Given the description of an element on the screen output the (x, y) to click on. 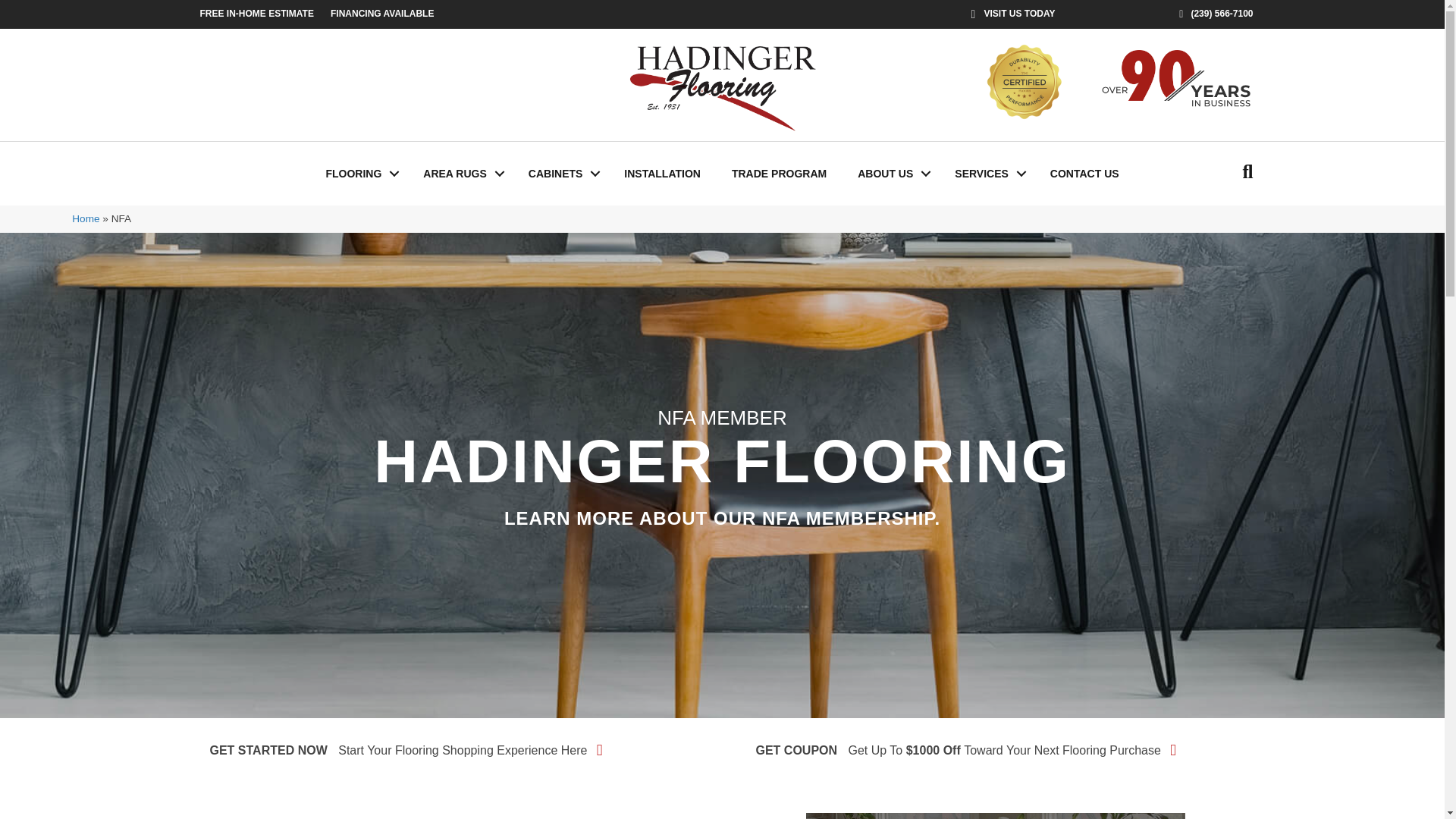
FREE IN-HOME ESTIMATE (256, 14)
90 years in business (1176, 81)
NFA-square (995, 816)
VISIT US TODAY (1012, 14)
FINANCING AVAILABLE (382, 14)
